Given the description of an element on the screen output the (x, y) to click on. 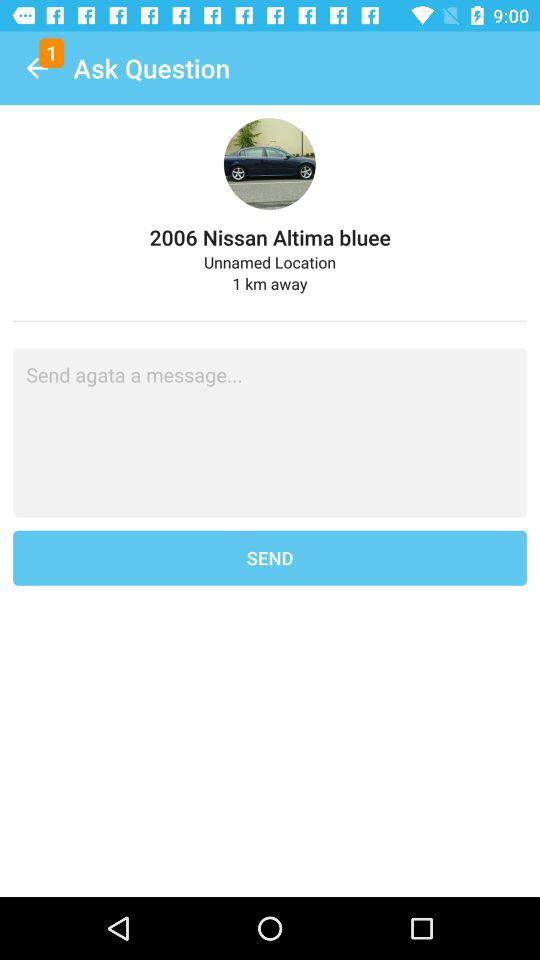
open item above the 2006 nissan altima (36, 68)
